Given the description of an element on the screen output the (x, y) to click on. 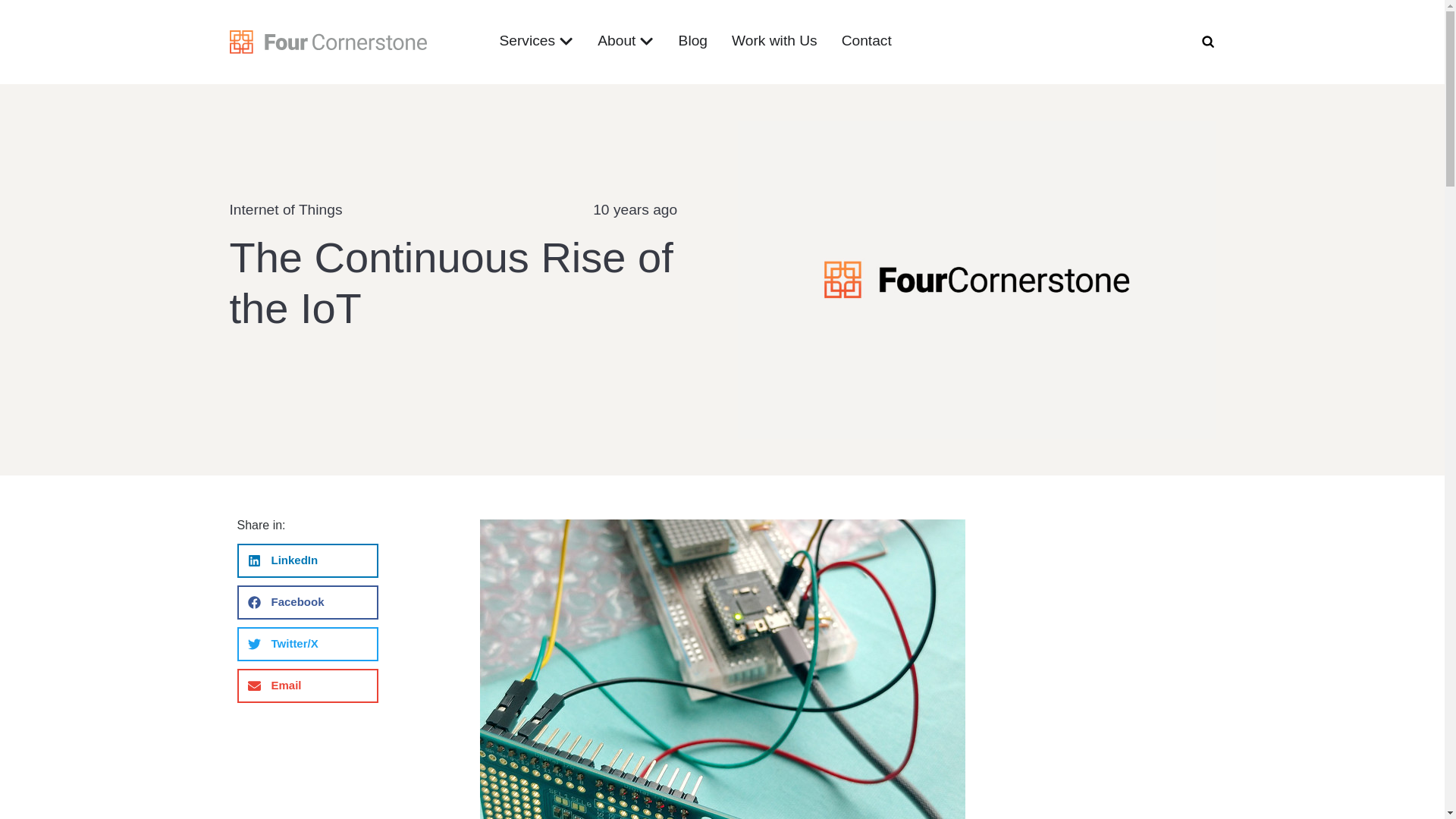
Blog (692, 41)
Contact (866, 41)
Work with Us (774, 41)
